Given the description of an element on the screen output the (x, y) to click on. 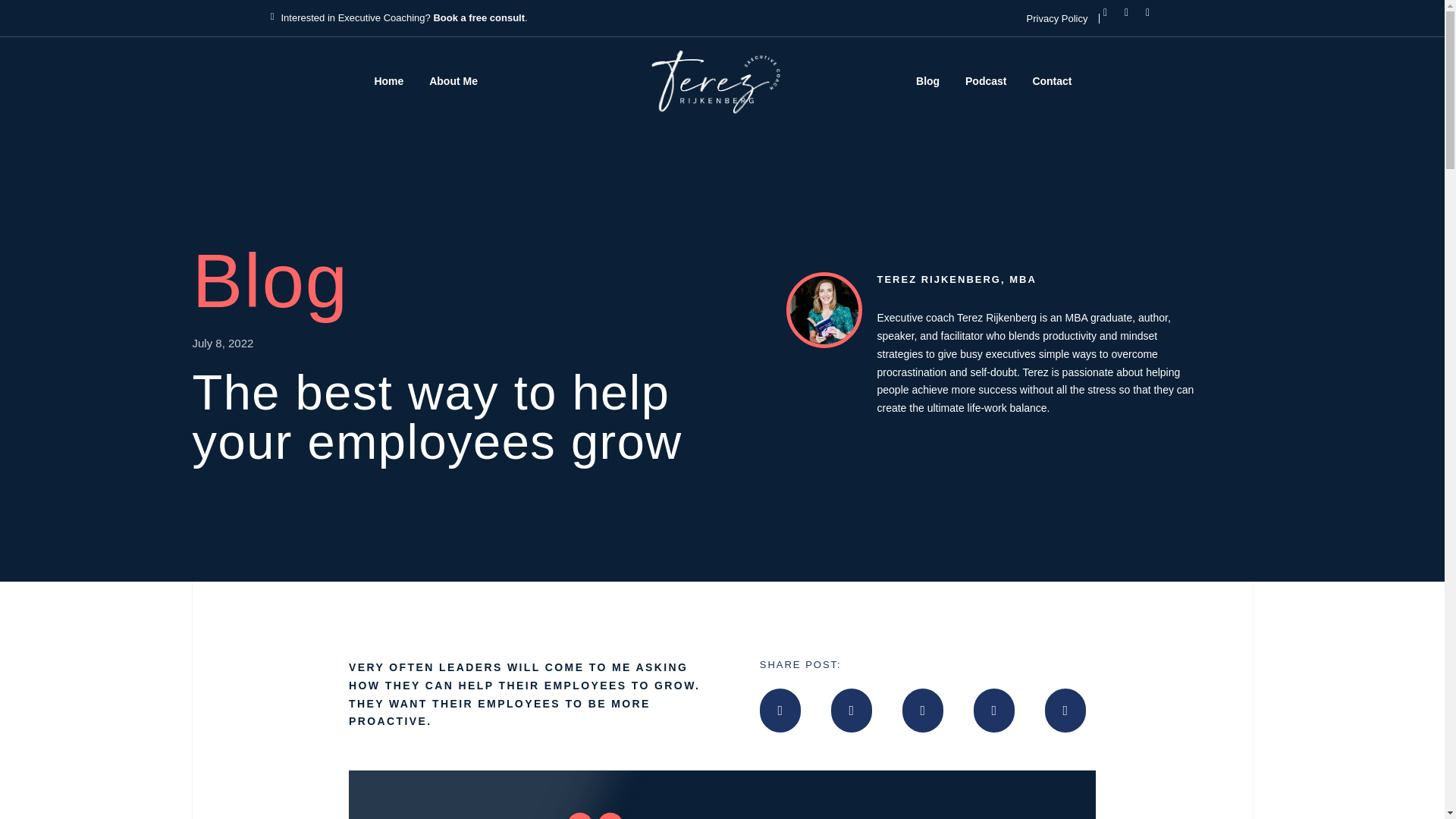
Podcast (985, 81)
About Me (453, 81)
July 8, 2022 (222, 342)
Privacy Policy (1056, 17)
Contact (1051, 81)
Interested in Executive Coaching? Book a free consult. (404, 17)
Blog (927, 81)
Home (388, 81)
